Given the description of an element on the screen output the (x, y) to click on. 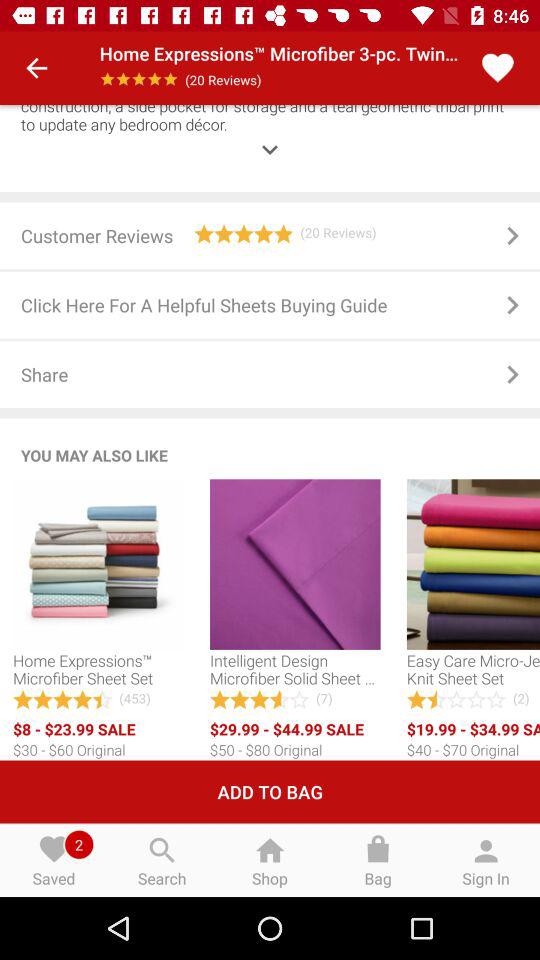
press the item above the customer reviews (270, 135)
